Given the description of an element on the screen output the (x, y) to click on. 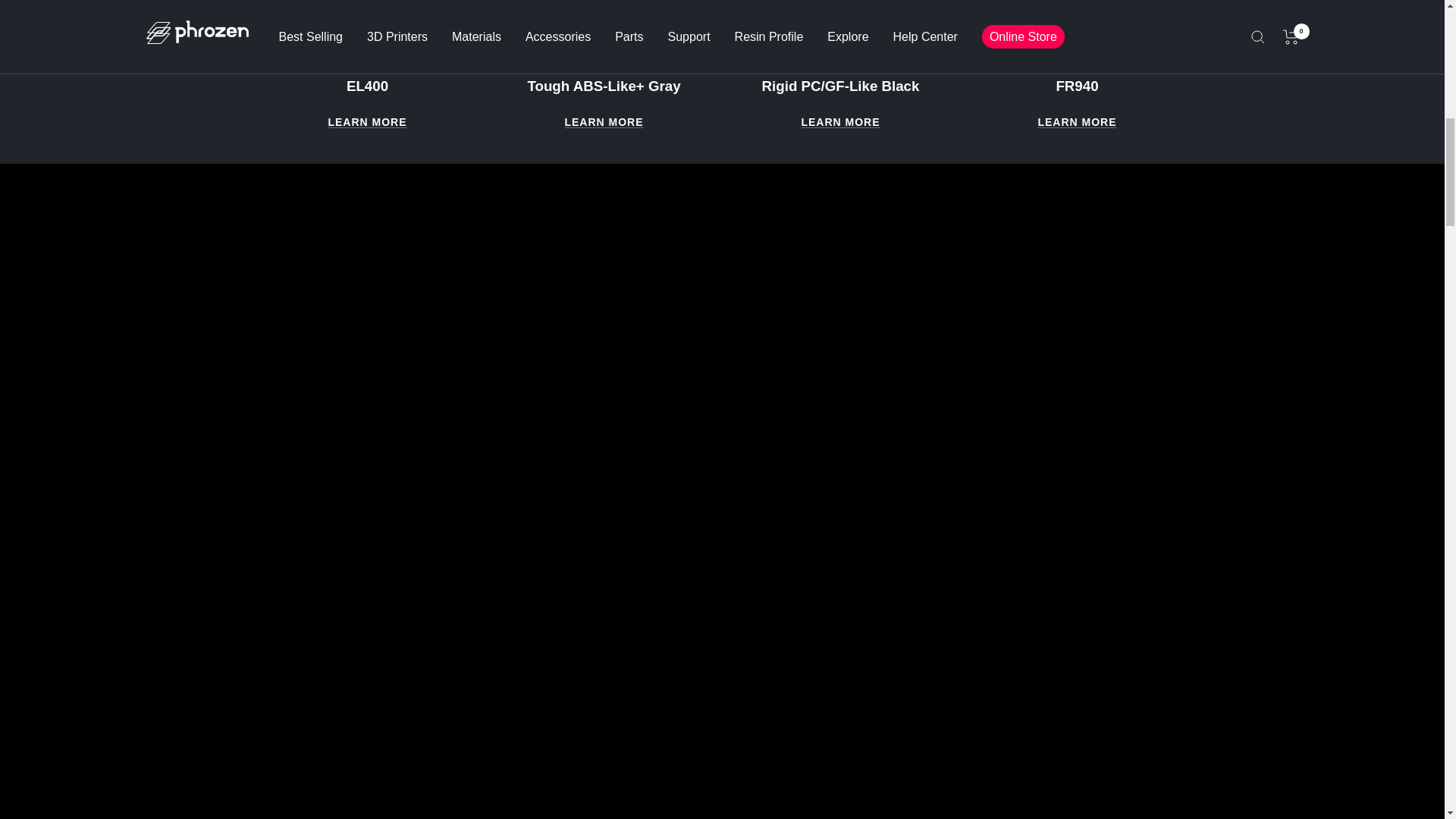
LEARN MORE (839, 122)
LEARN MORE (1076, 122)
LEARN MORE (366, 122)
LEARN MORE (603, 122)
